Given the description of an element on the screen output the (x, y) to click on. 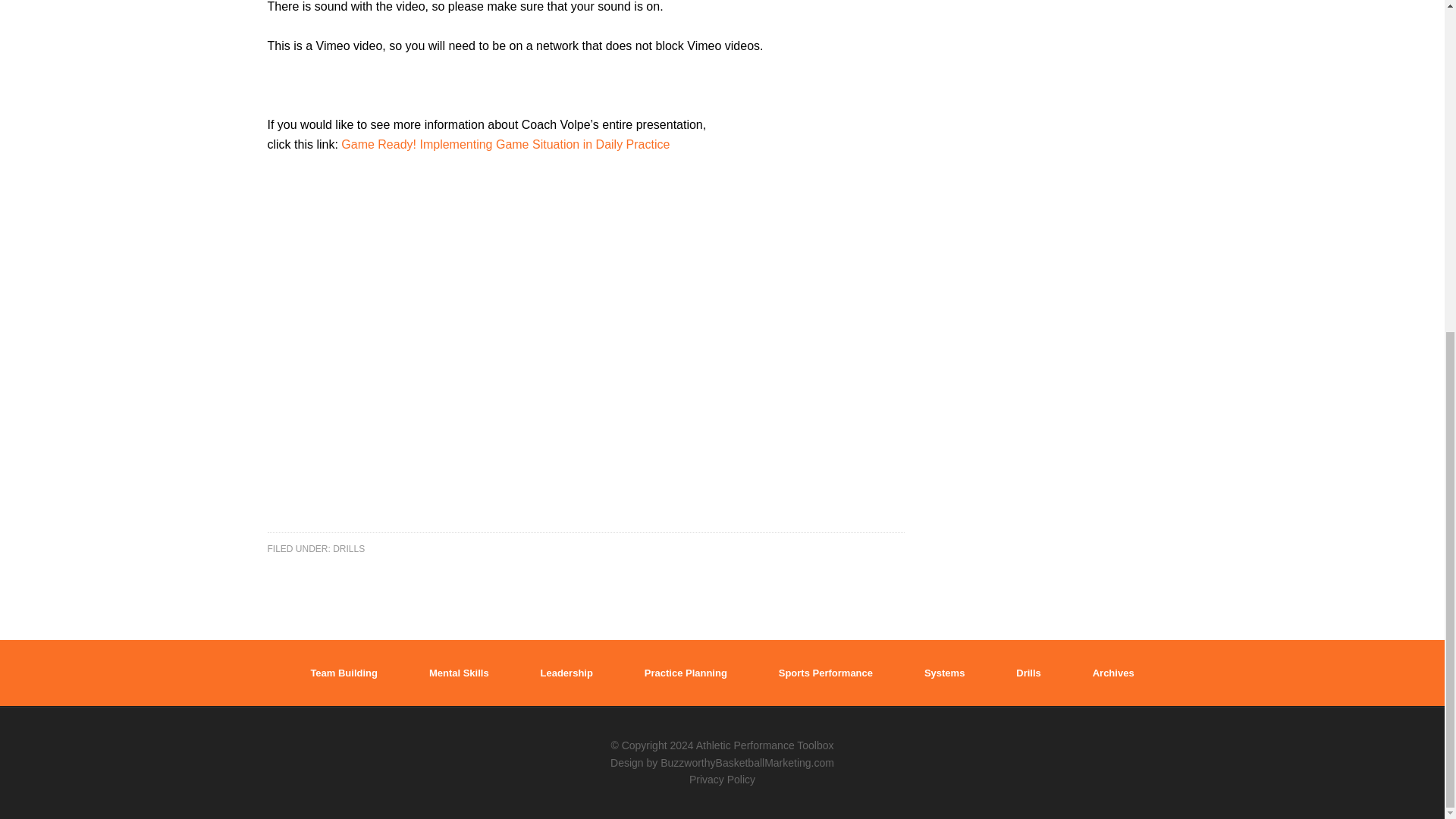
Game Ready! Implementing Game Situation in Daily Practice (504, 144)
Team Building (343, 672)
BuzzworthyBasketballMarketing.com (747, 762)
Practice Planning (685, 672)
Systems (943, 672)
Archives (1113, 672)
Athletic Performance Toolbox (764, 745)
Drills (1028, 672)
Mental Skills (459, 672)
DRILLS (349, 547)
